Given the description of an element on the screen output the (x, y) to click on. 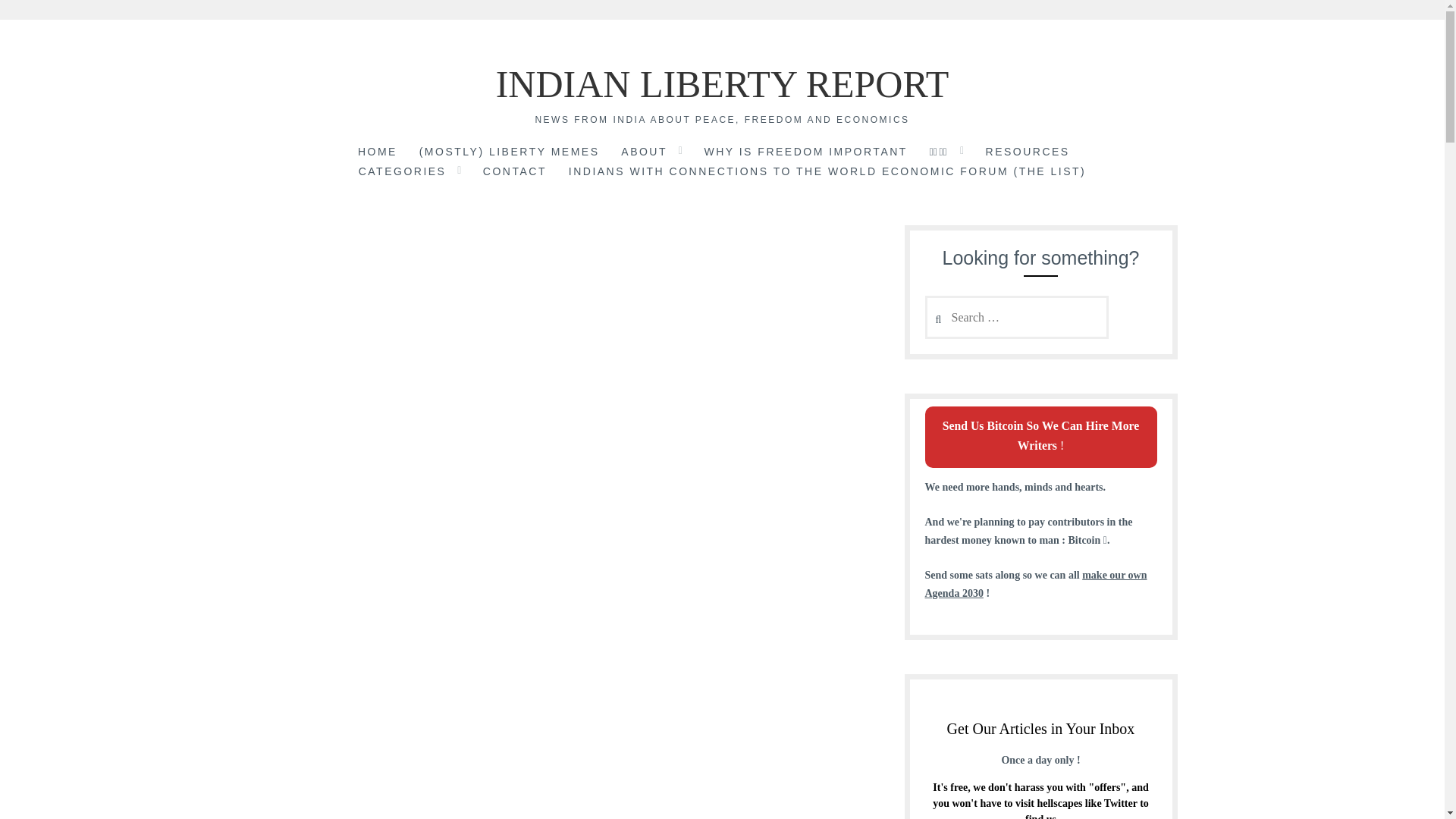
ABOUT (643, 152)
RESOURCES (1027, 152)
INDIAN LIBERTY REPORT (722, 84)
CONTACT (515, 172)
CATEGORIES (402, 172)
WHY IS FREEDOM IMPORTANT (805, 152)
HOME (377, 152)
